Given the description of an element on the screen output the (x, y) to click on. 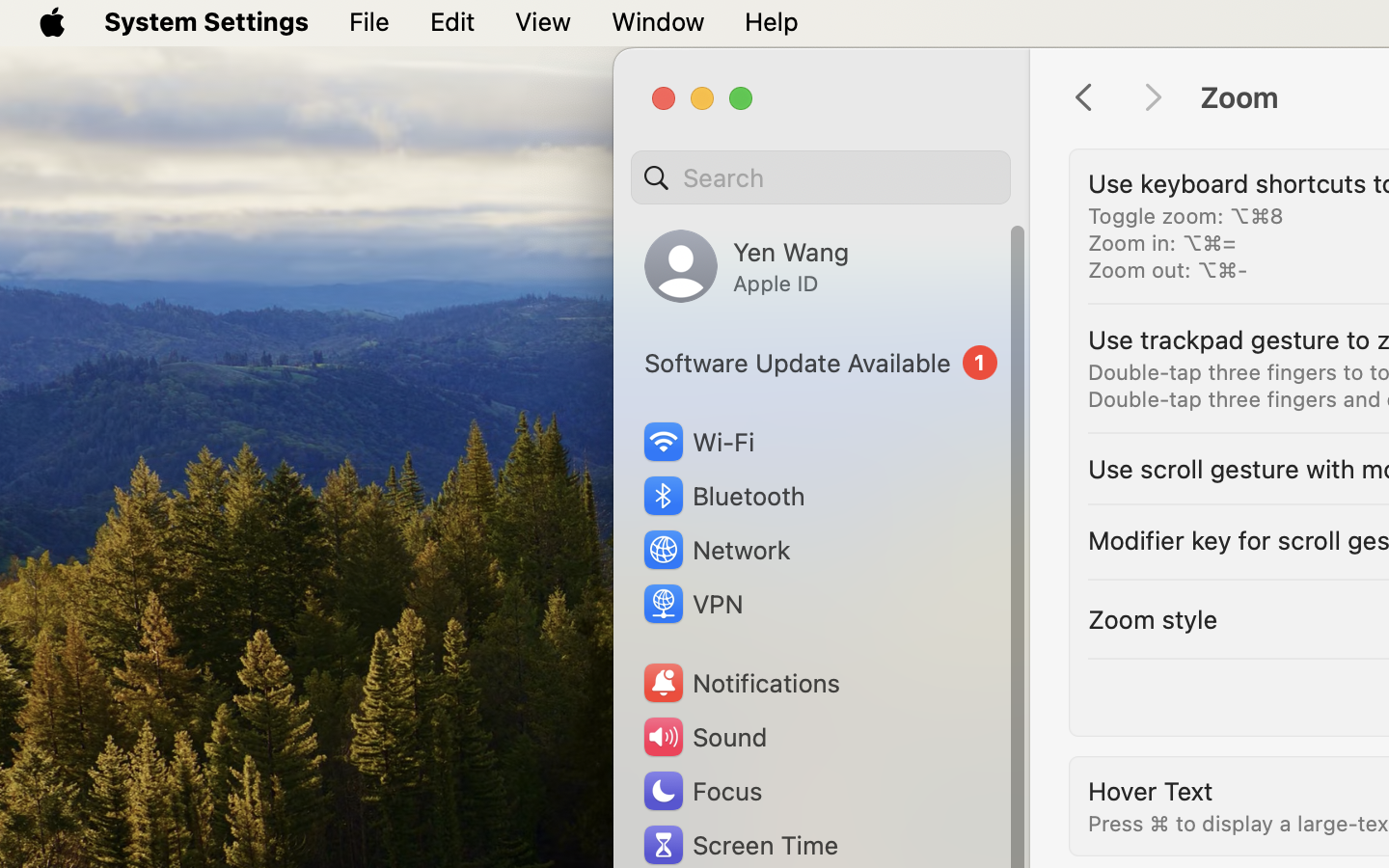
Sound Element type: AXStaticText (703, 736)
Toggle zoom: ⌥⌘8
Zoom in: ⌥⌘=
Zoom out: ⌥⌘- Element type: AXStaticText (1186, 242)
Network Element type: AXStaticText (715, 549)
1 Element type: AXStaticText (820, 362)
Yen Wang, Apple ID Element type: AXStaticText (746, 265)
